Given the description of an element on the screen output the (x, y) to click on. 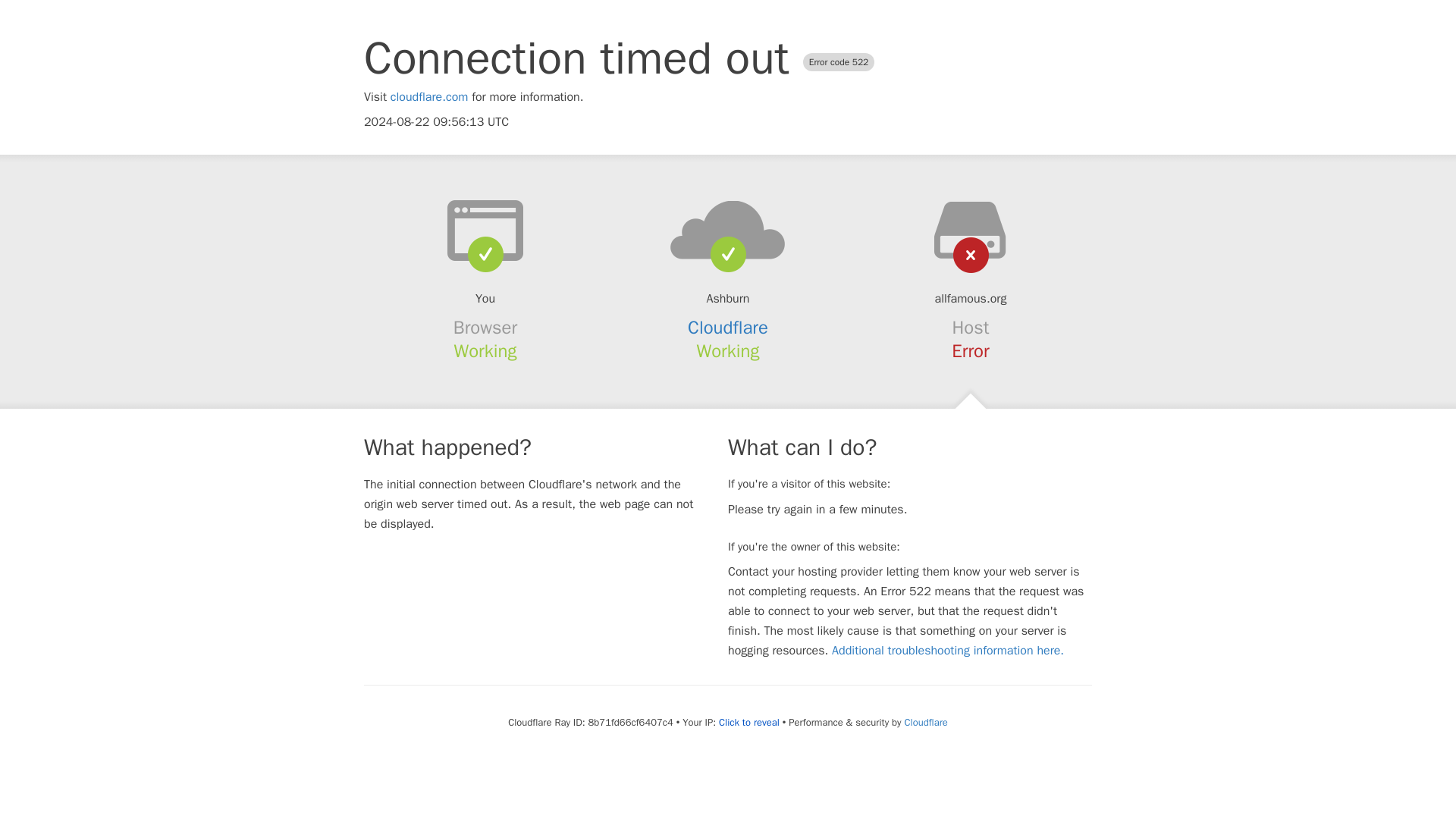
Cloudflare (727, 327)
cloudflare.com (429, 96)
Additional troubleshooting information here. (947, 650)
Click to reveal (748, 722)
Cloudflare (925, 721)
